Given the description of an element on the screen output the (x, y) to click on. 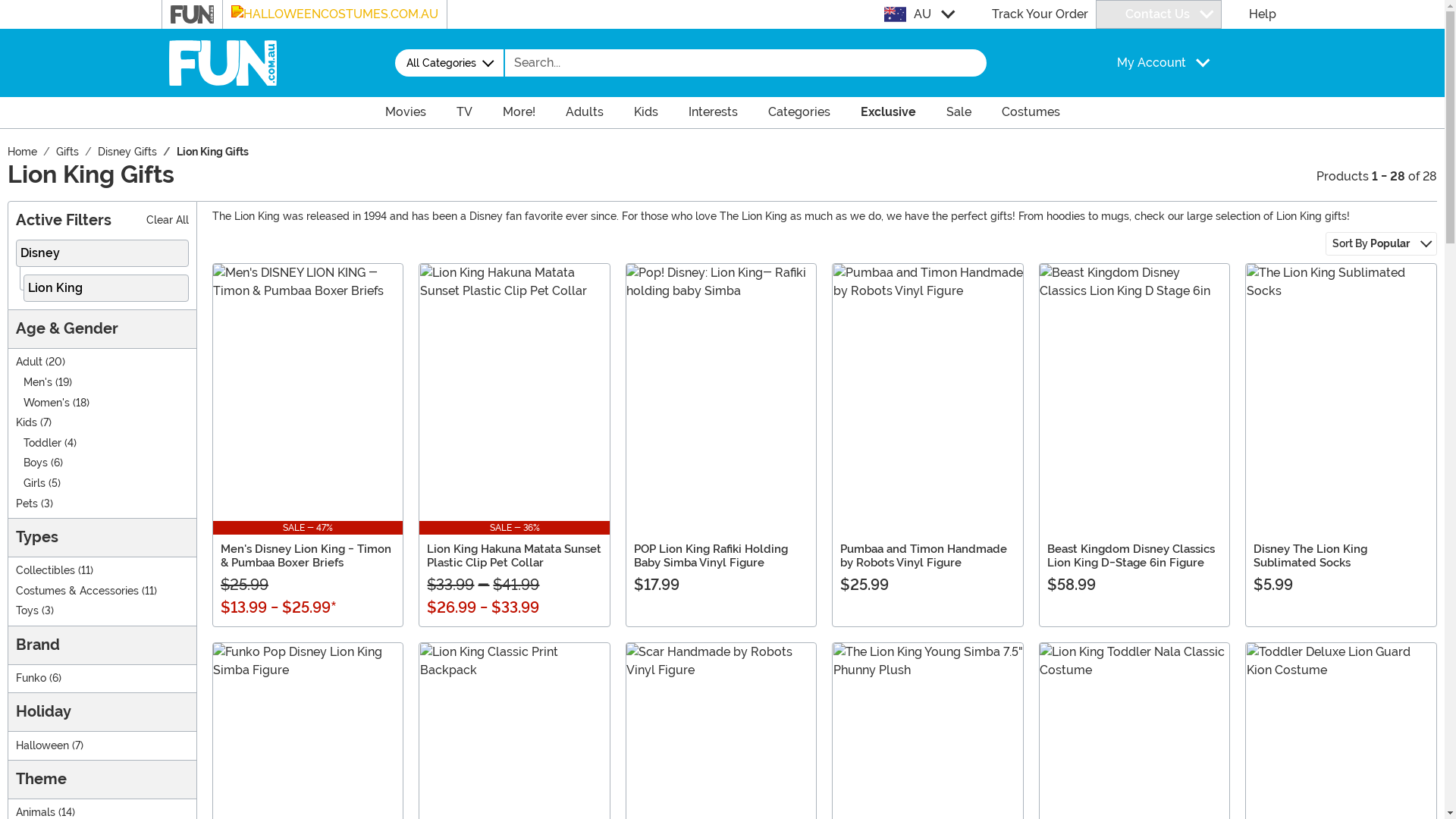
Costumes Element type: text (1029, 112)
Movies Element type: text (405, 112)
Lion King Gifts Element type: text (212, 151)
More! Element type: text (517, 112)
Disney The Lion King Sublimated Socks Element type: text (1310, 555)
Kids Element type: text (26, 422)
Men's Disney Lion King - Timon & Pumbaa Boxer Briefs Element type: text (305, 555)
Theme Element type: text (102, 779)
Types Element type: text (102, 537)
Disney Gifts Element type: text (126, 152)
Kids Element type: text (645, 112)
Help Element type: text (1251, 14)
Categories Element type: text (798, 112)
AU Element type: text (918, 14)
My Account Element type: text (1146, 62)
Home Element type: text (22, 151)
Holiday Element type: text (102, 712)
Toddler Element type: text (42, 442)
Gifts Element type: text (67, 151)
Age & Gender Element type: text (102, 329)
Clear All Element type: text (167, 220)
Halloween Element type: text (42, 745)
Pets Element type: text (26, 503)
Exclusive Element type: text (887, 112)
TV Element type: text (464, 112)
Brand Element type: text (102, 645)
Collectibles Element type: text (45, 570)
Adult Element type: text (28, 361)
Men's Element type: text (37, 382)
Interests Element type: text (713, 112)
Boys Element type: text (35, 462)
Lion King Hakuna Matata Sunset Plastic Clip Pet Collar Element type: text (513, 555)
Women's Element type: text (46, 402)
Costumes & Accessories Element type: text (76, 590)
Disney Element type: text (101, 252)
Pumbaa and Timon Handmade by Robots Vinyl Figure Element type: text (923, 555)
Sale Element type: text (958, 112)
Sort By Popular Element type: text (1381, 243)
All Categories Element type: text (449, 62)
POP Lion King Rafiki Holding Baby Simba Vinyl Figure Element type: text (710, 555)
Funko Element type: text (30, 677)
Lion King Element type: text (105, 287)
Beast Kingdom Disney Classics Lion King D-Stage 6in Figure Element type: text (1130, 555)
Girls Element type: text (34, 482)
Contact Us Element type: text (1158, 14)
Track Your Order Element type: text (1028, 14)
Toys Element type: text (26, 610)
Adults Element type: text (584, 112)
